Given the description of an element on the screen output the (x, y) to click on. 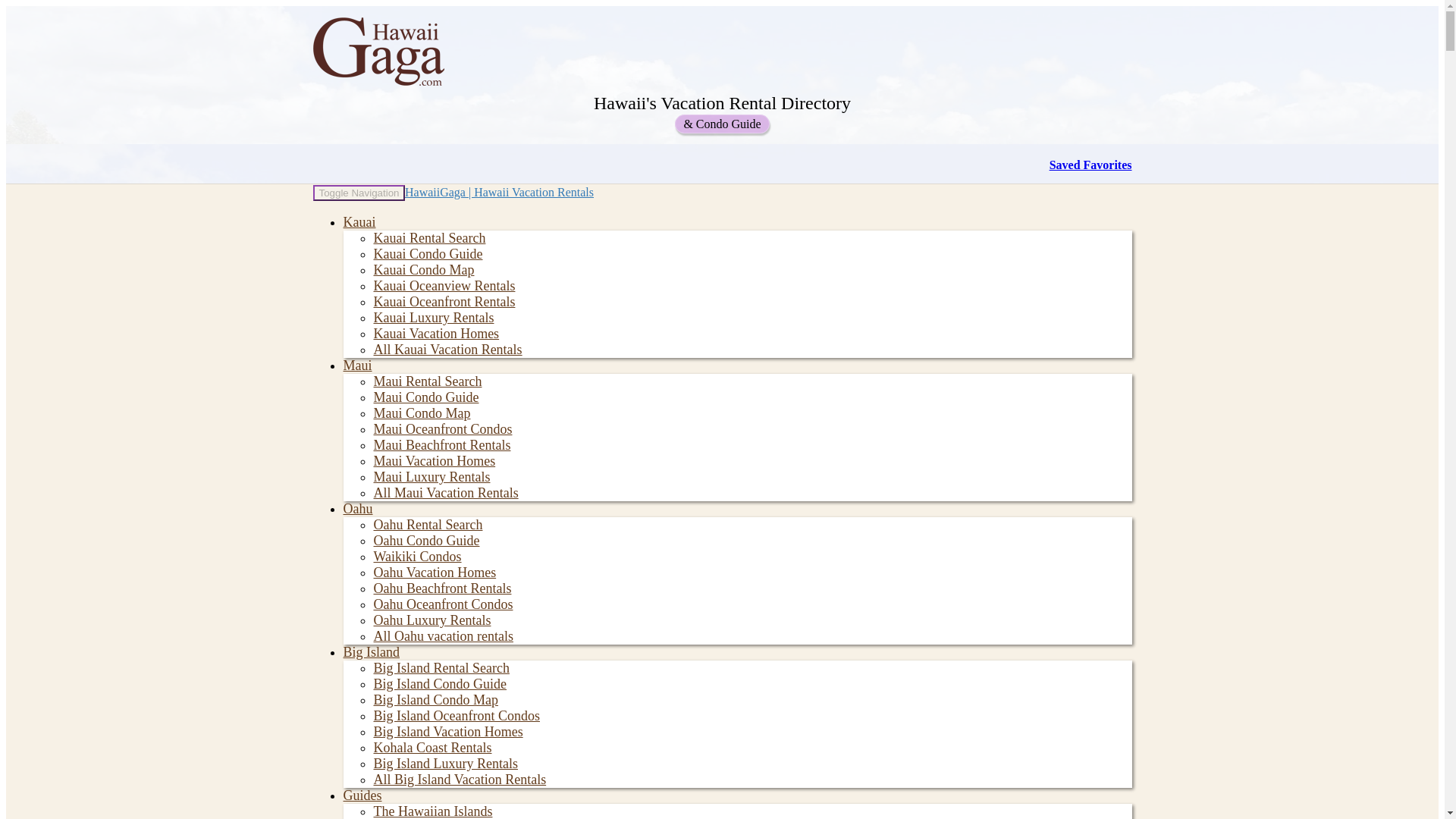
Kauai Condo Map (423, 269)
Oahu Vacation Homes (434, 572)
Kauai Condo Map (423, 269)
Maui Luxury Rentals (430, 476)
Kauai Luxury Rentals (432, 317)
Maui Beachfront Rentals (441, 444)
Kauai Oceanfront Rentals (443, 301)
Maui Condo Map (421, 412)
Kauai Rental Search (428, 237)
Maui Oceanfront Condos (442, 428)
